Given the description of an element on the screen output the (x, y) to click on. 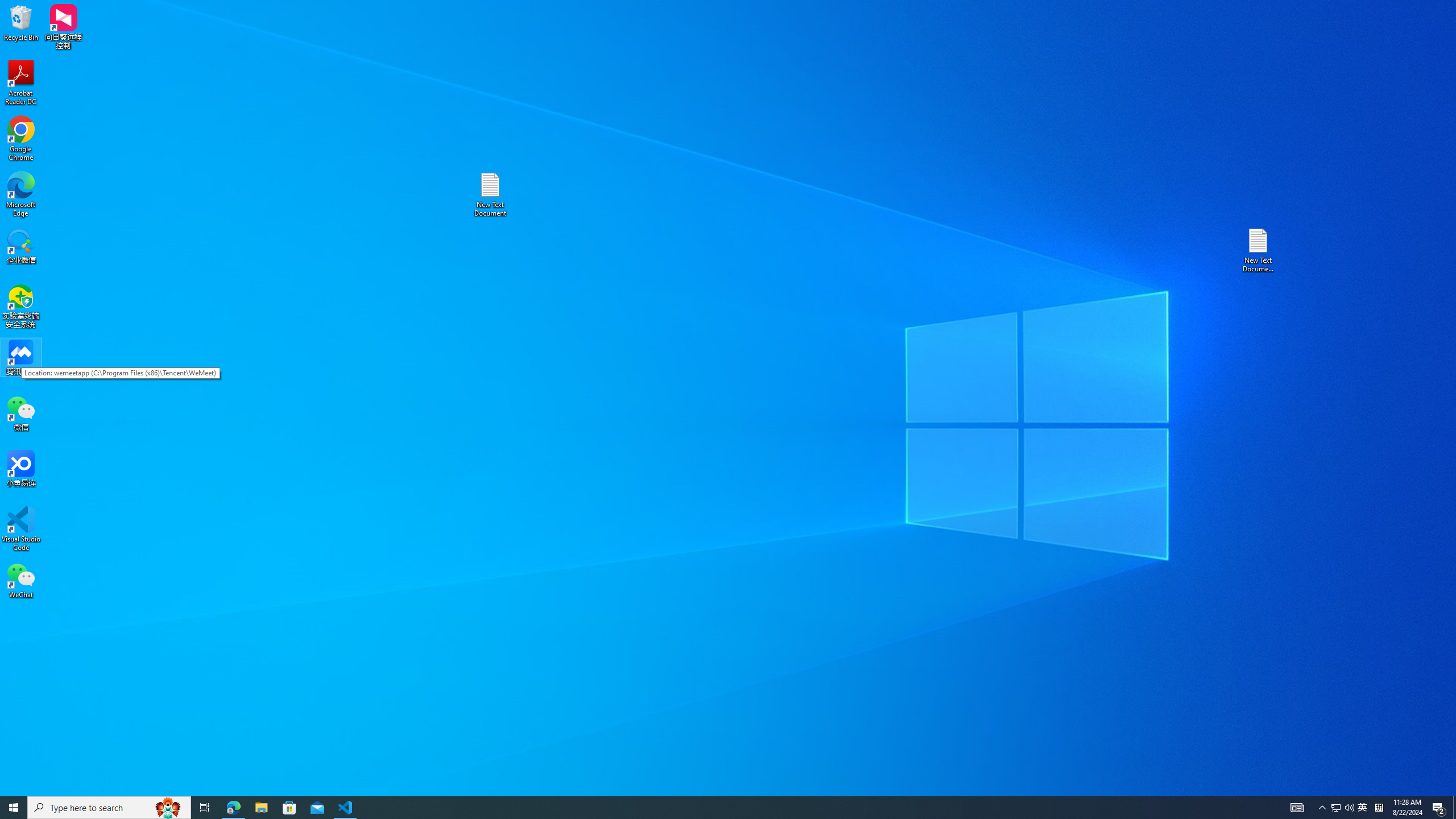
Google Chrome (21, 138)
Running applications (707, 807)
